Given the description of an element on the screen output the (x, y) to click on. 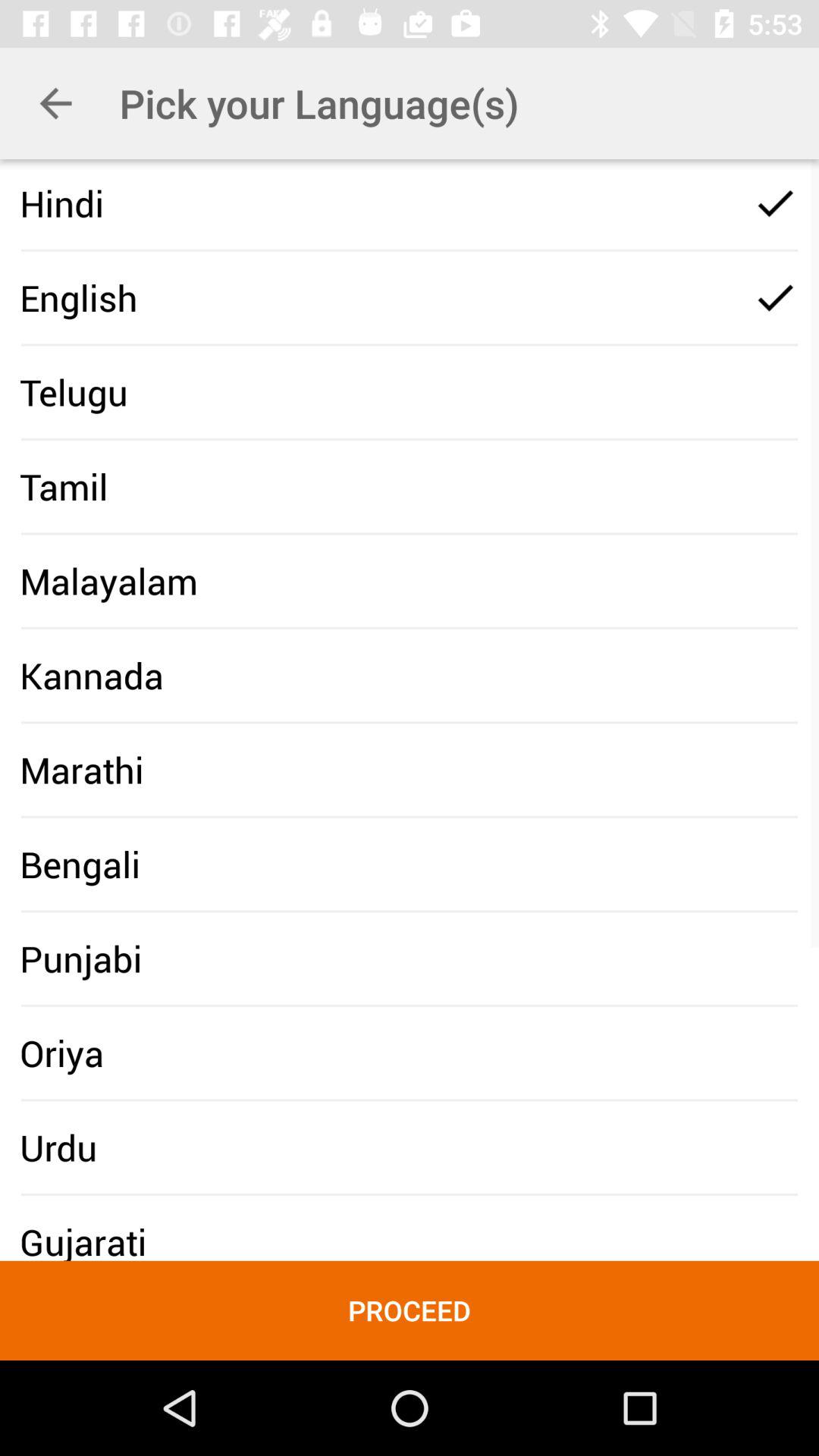
flip to malayalam (108, 580)
